Given the description of an element on the screen output the (x, y) to click on. 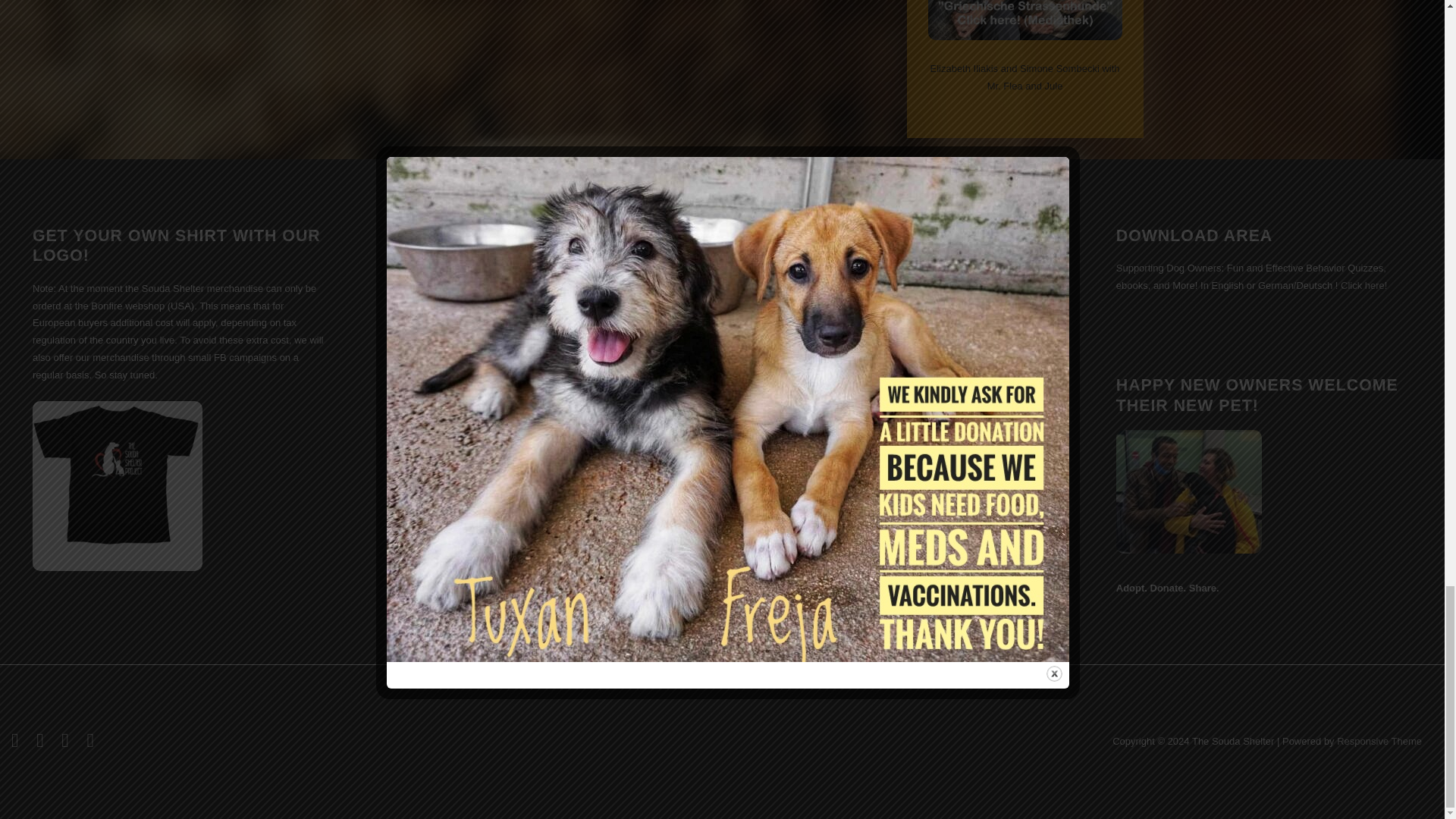
Der Empfang (1158, 429)
L (893, 429)
Merchandise SHOP (117, 485)
powered by Google (693, 336)
Hannah Charalambous (1423, 429)
Loes De Kater (627, 429)
